Given the description of an element on the screen output the (x, y) to click on. 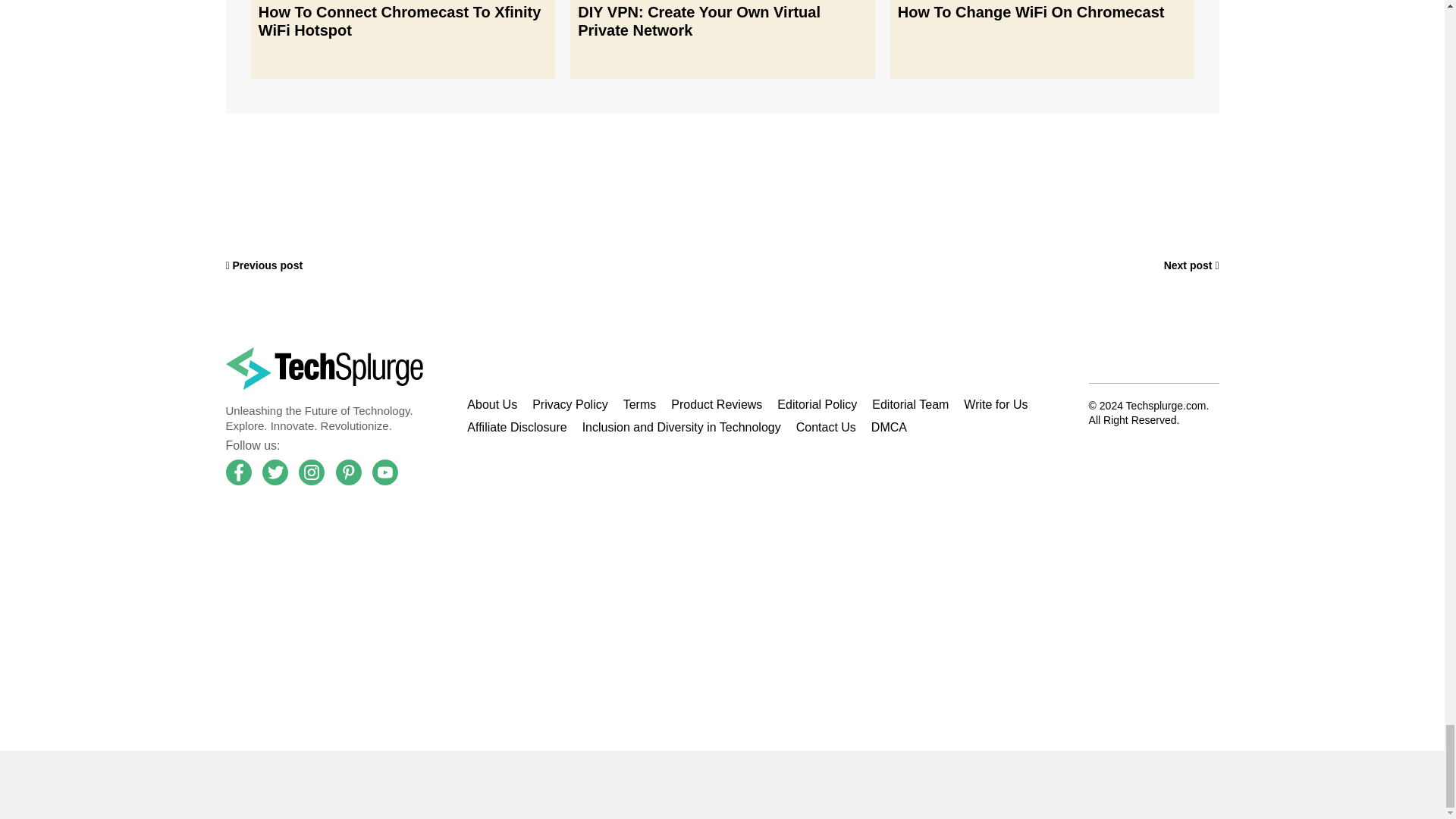
Techsplurge (324, 368)
